Given the description of an element on the screen output the (x, y) to click on. 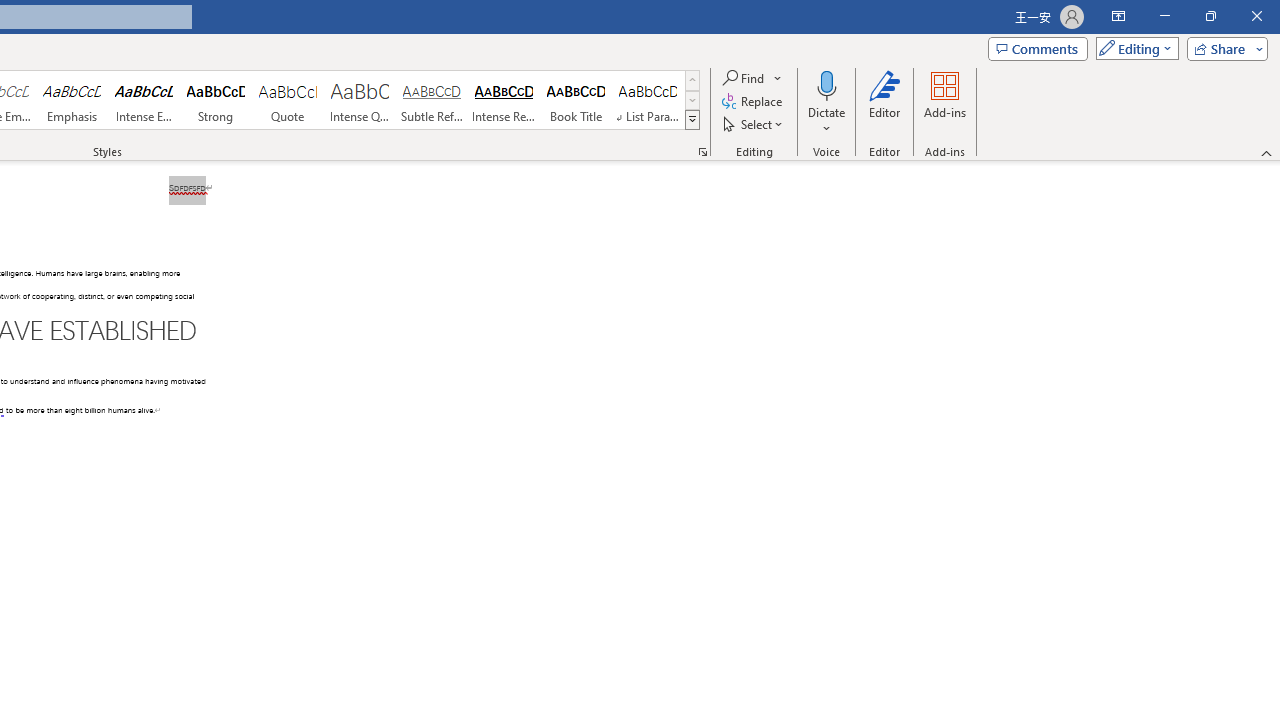
Intense Reference (504, 100)
Select (754, 124)
